Given the description of an element on the screen output the (x, y) to click on. 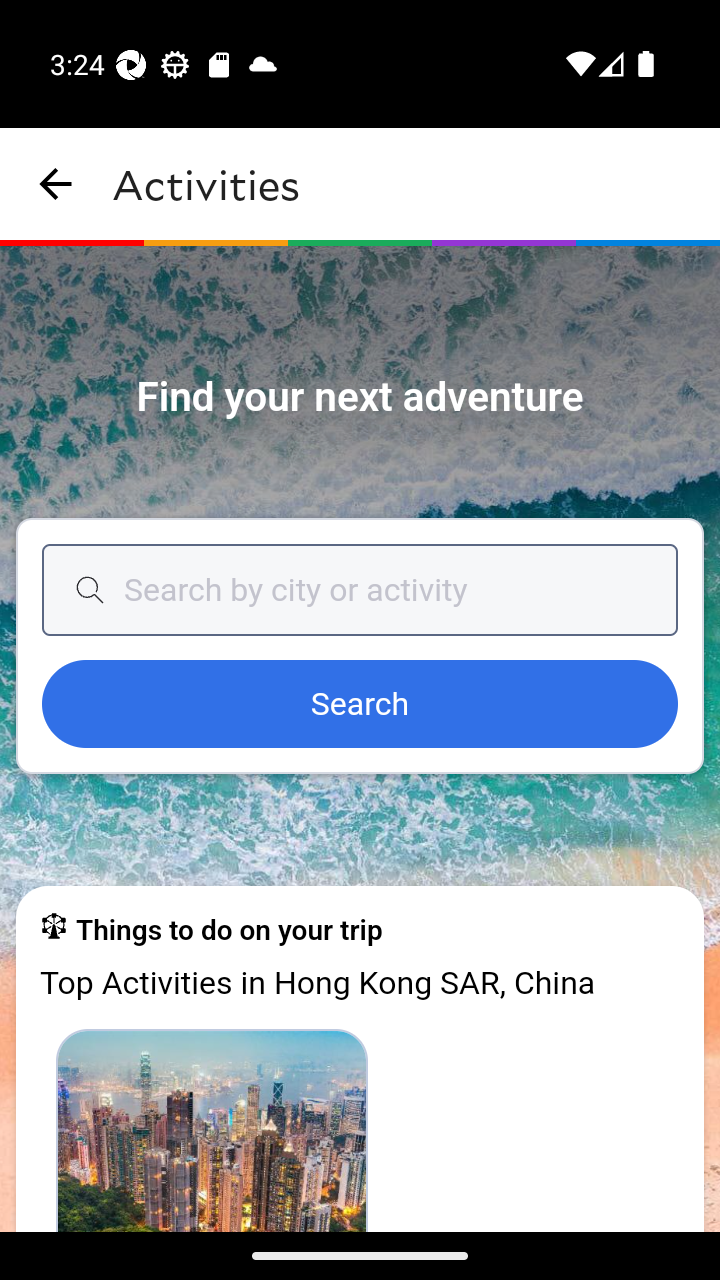
navigation_button (56, 184)
Search (359, 705)
Find top deals Hong Kong Find top deals (211, 1129)
